Given the description of an element on the screen output the (x, y) to click on. 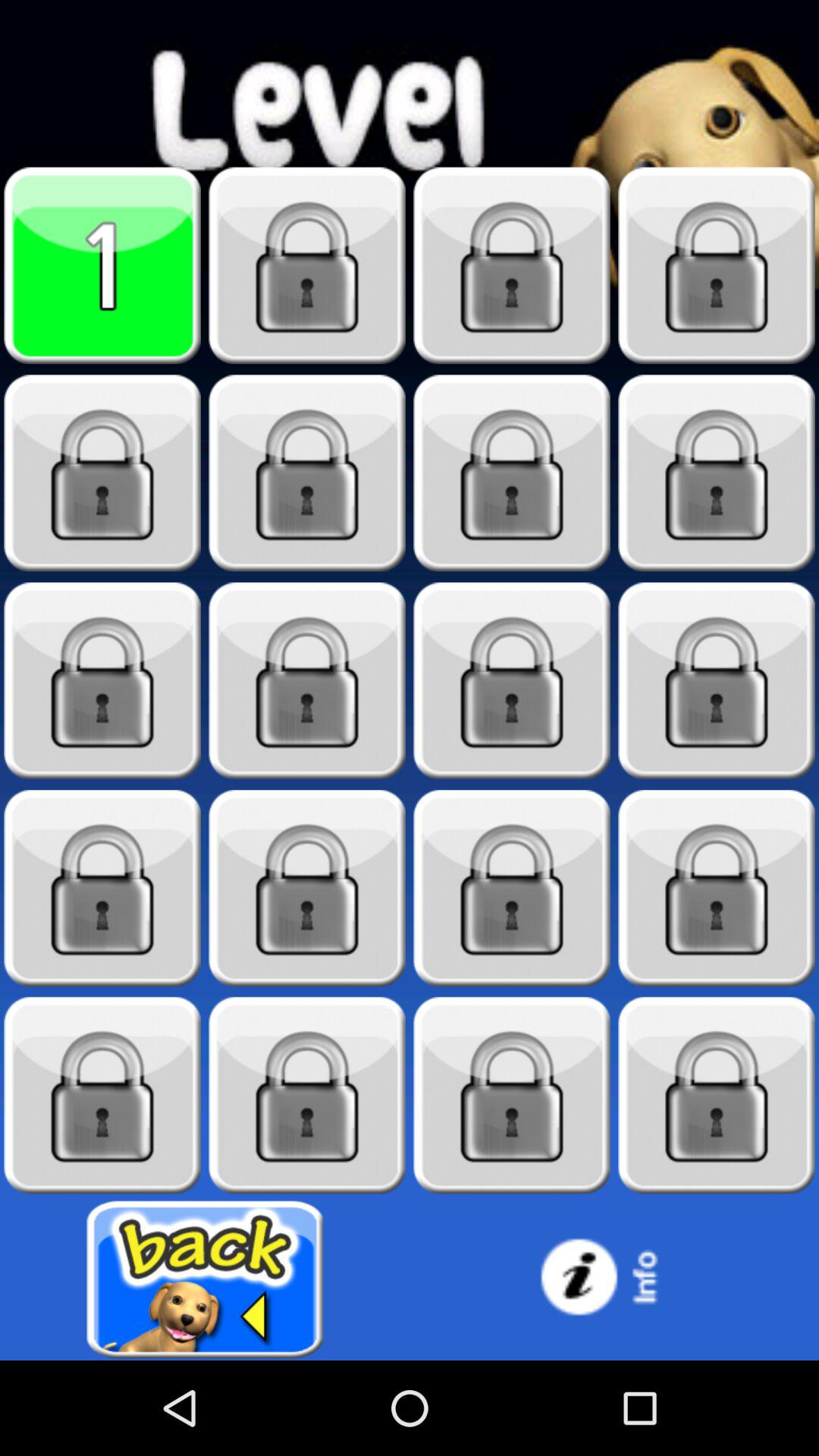
locked level (102, 680)
